Given the description of an element on the screen output the (x, y) to click on. 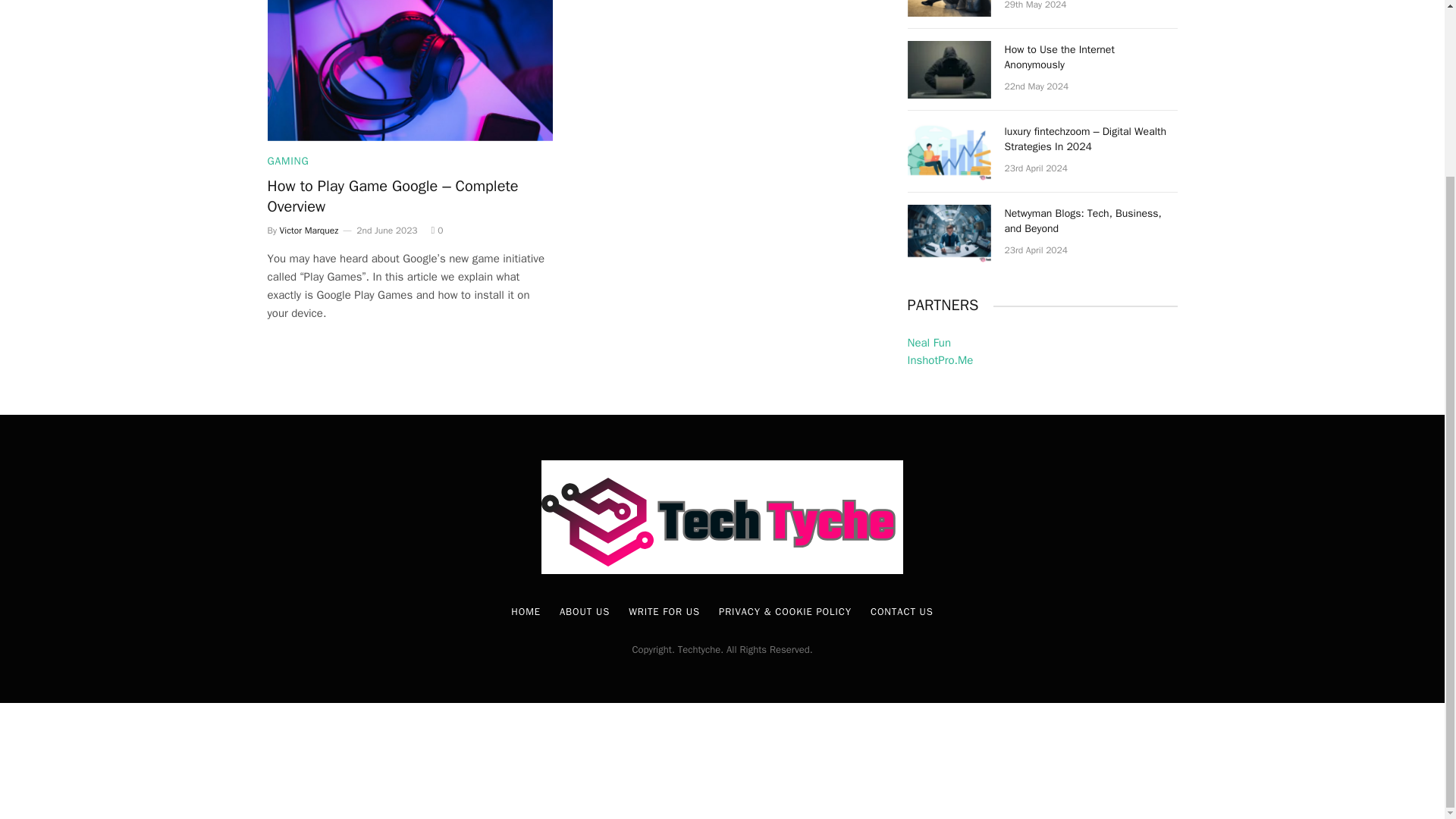
How to Use the Internet Anonymously (948, 69)
Posts by Victor Marquez (309, 230)
Netwyman Blogs: Tech, Business, and Beyond (948, 233)
Which Variation of Online Poker Is Right for You? (948, 8)
